Given the description of an element on the screen output the (x, y) to click on. 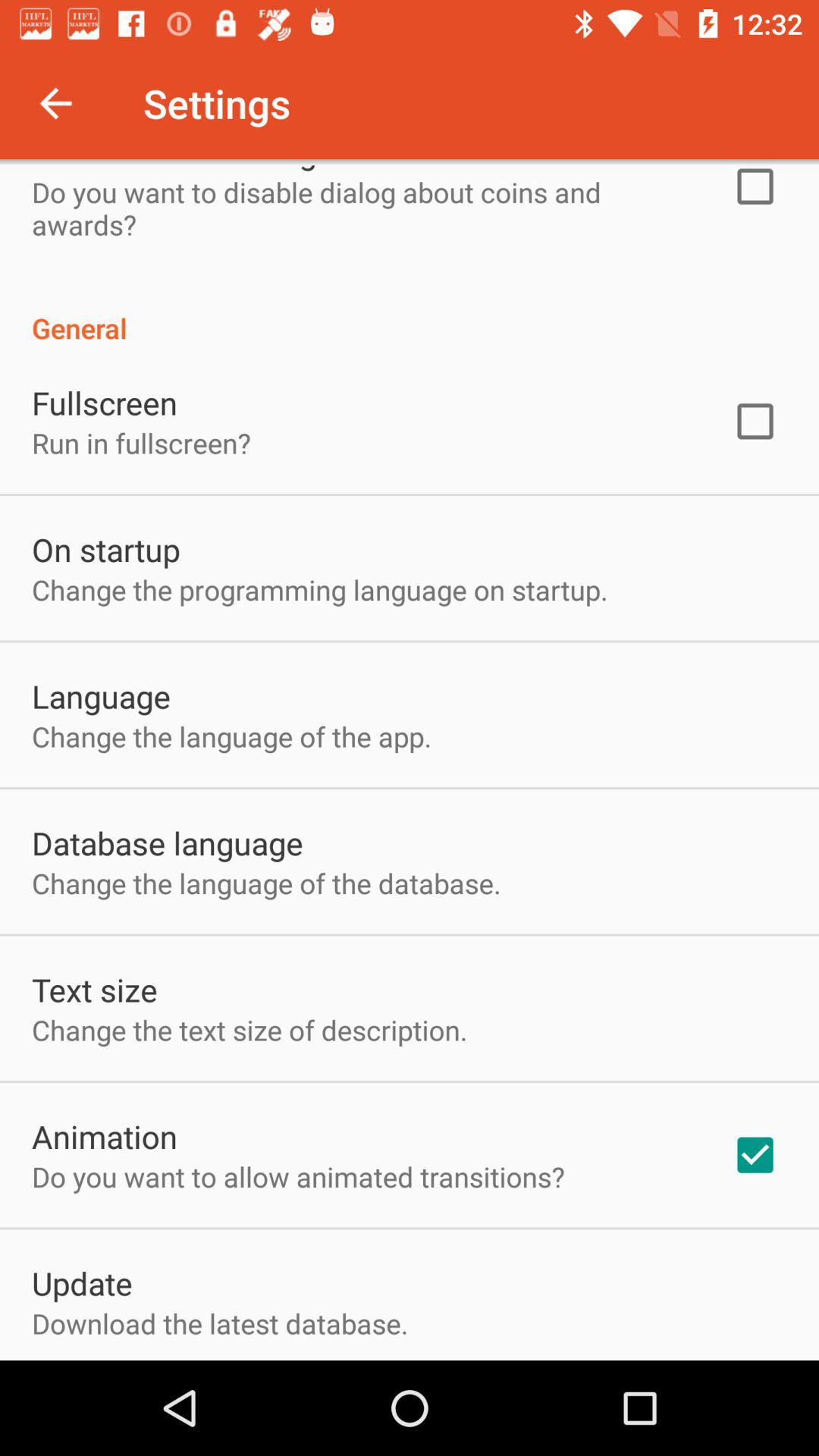
open the general item (409, 311)
